Given the description of an element on the screen output the (x, y) to click on. 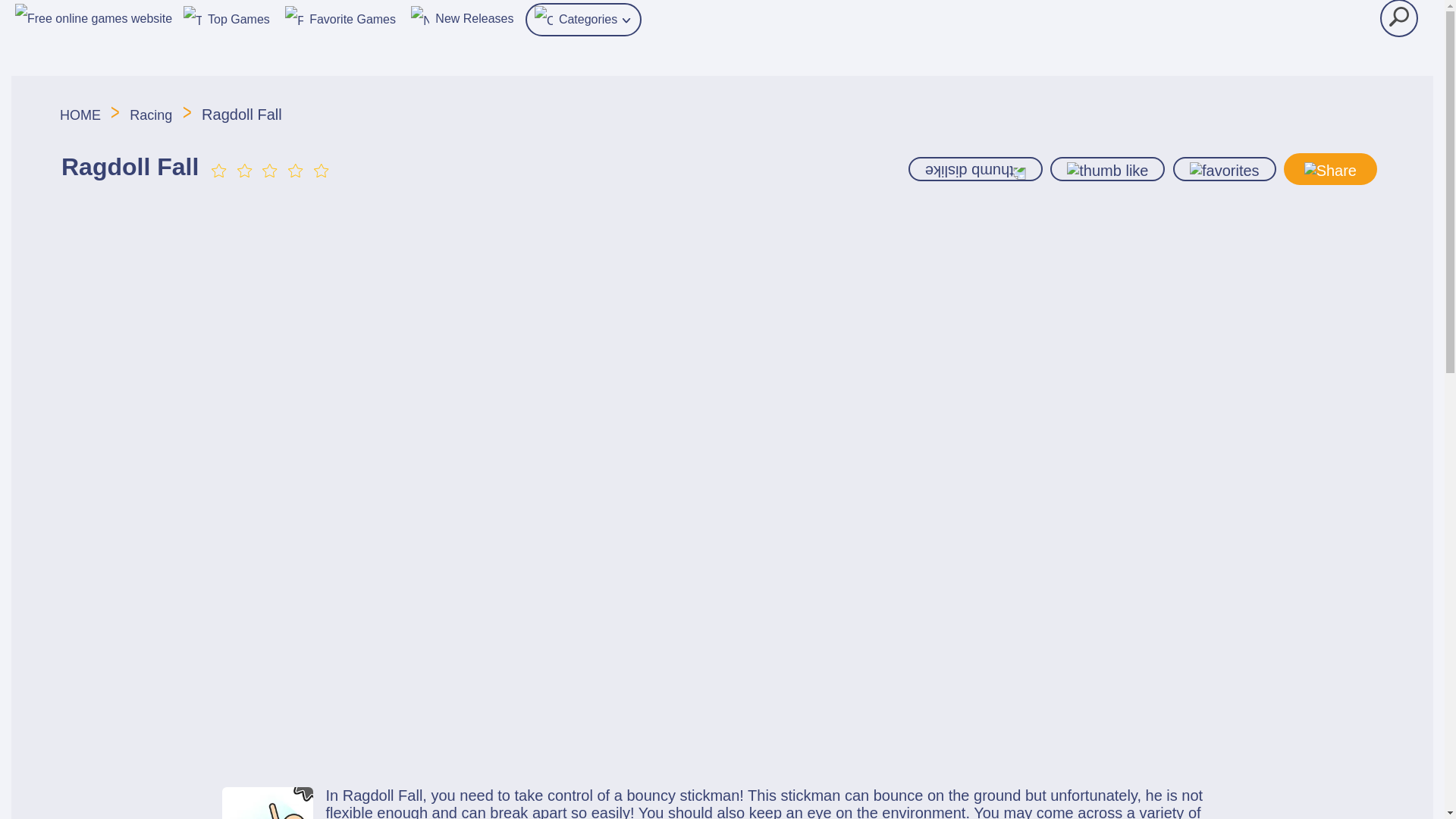
Top Games (226, 17)
Categories (583, 19)
HOME (81, 114)
Racing (150, 114)
Favorite Games (339, 17)
New Releases (461, 17)
